Given the description of an element on the screen output the (x, y) to click on. 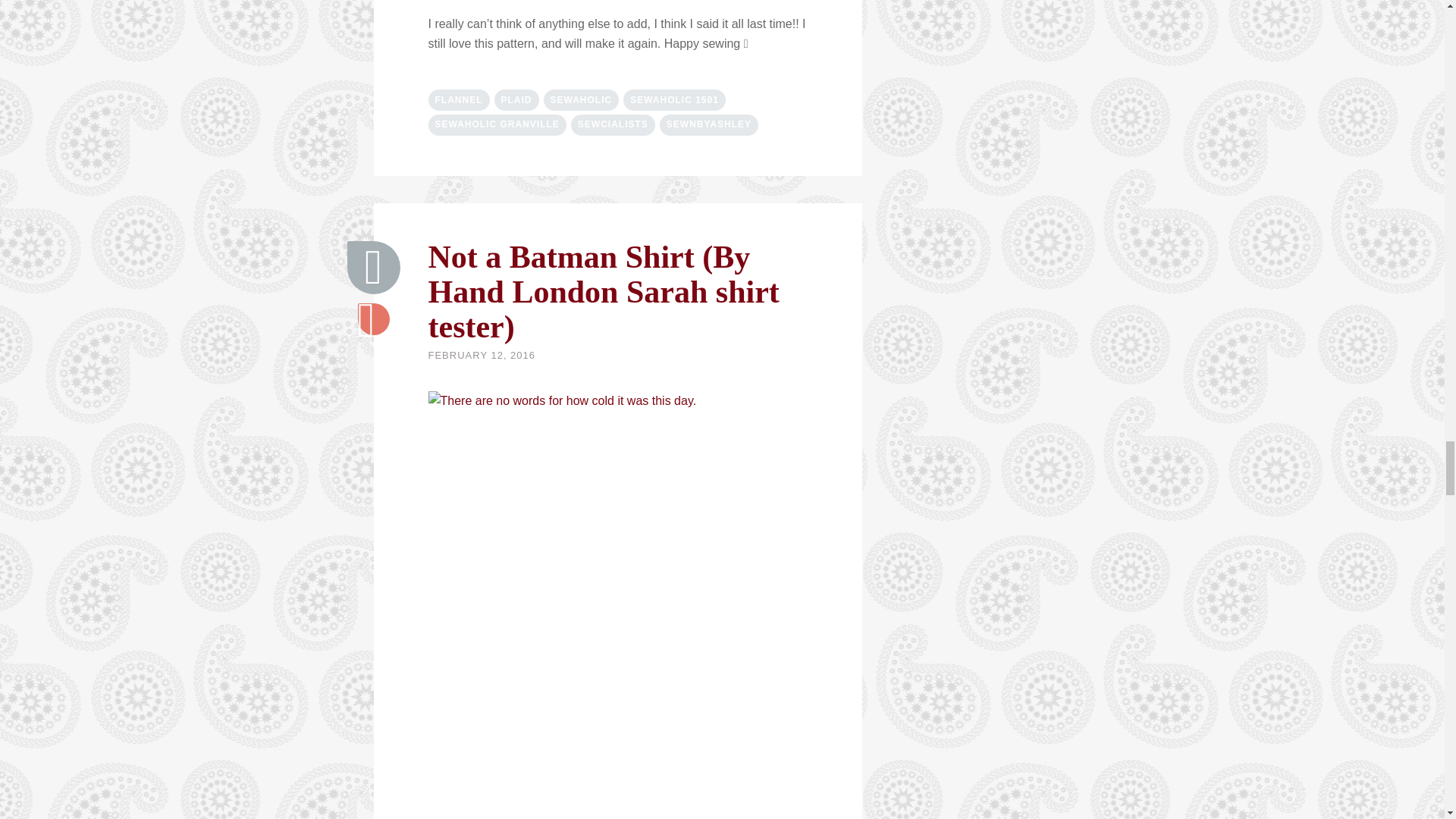
SEWNBYASHLEY (708, 124)
SEWAHOLIC 1501 (674, 99)
SEWCIALISTS (612, 124)
PLAID (516, 99)
SEWAHOLIC GRANVILLE (497, 124)
SEWAHOLIC (580, 99)
FLANNEL (458, 99)
